Given the description of an element on the screen output the (x, y) to click on. 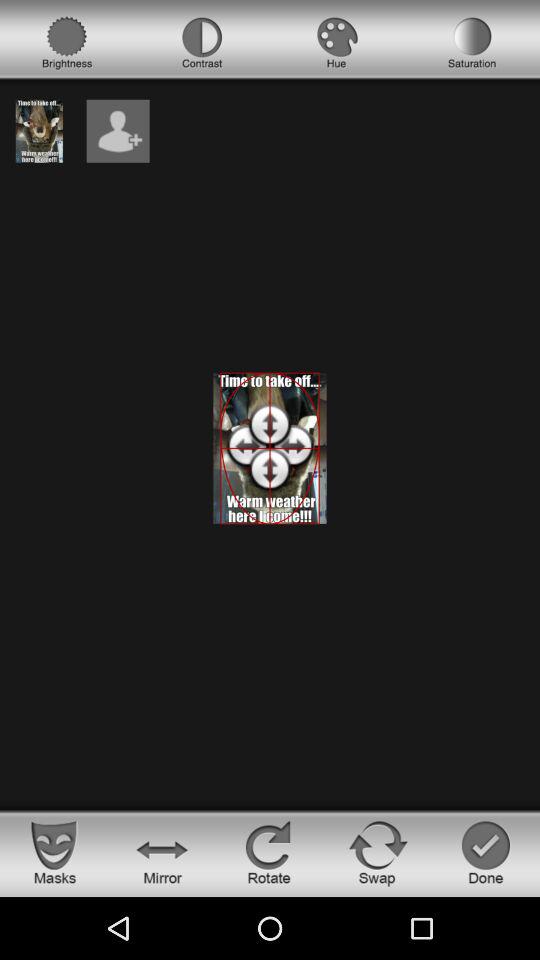
finish button (485, 852)
